Given the description of an element on the screen output the (x, y) to click on. 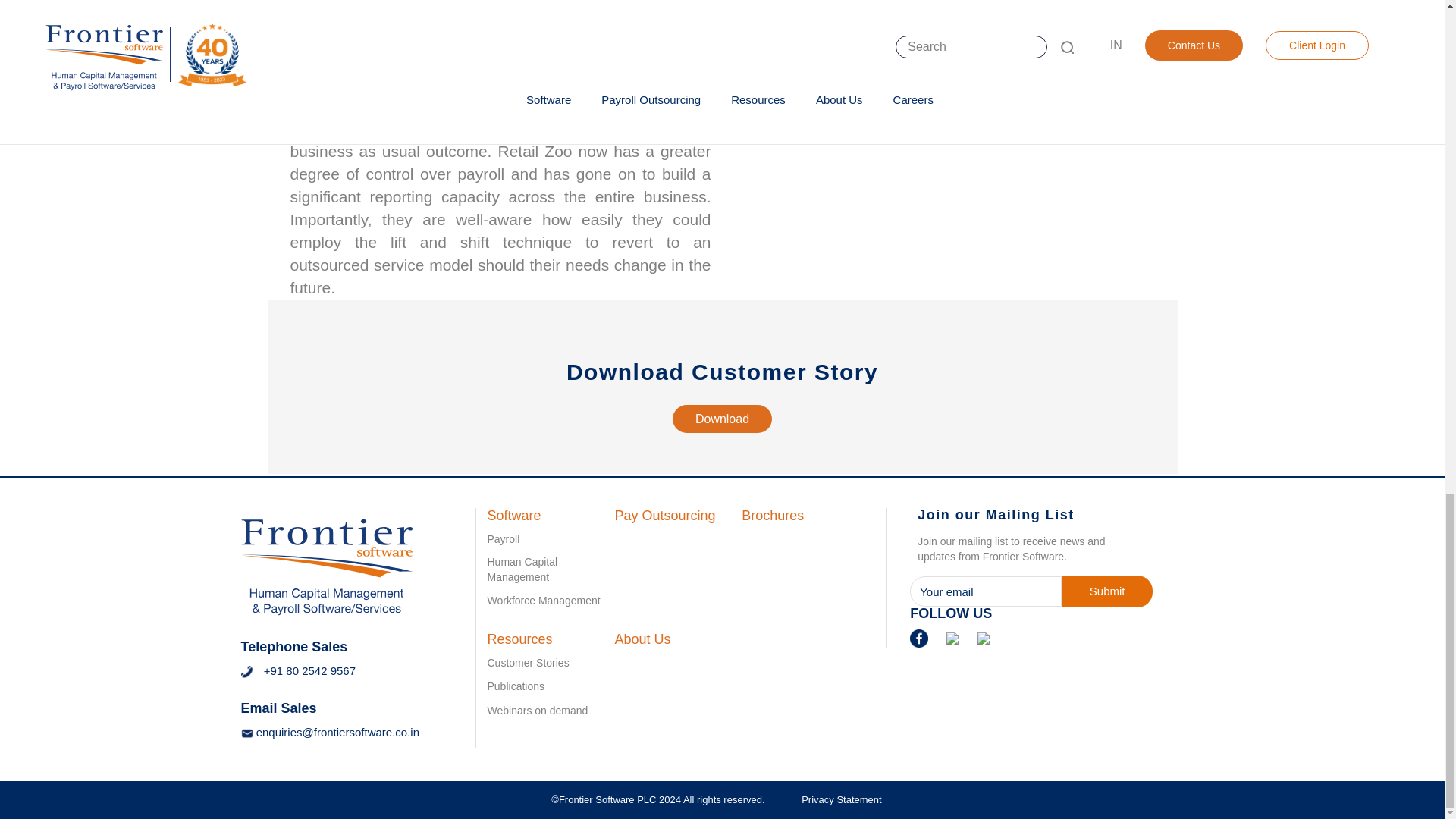
Follow us on Facebook (919, 636)
Follow us on LinkedIn (952, 636)
Follow us on Twitter (982, 636)
